Given the description of an element on the screen output the (x, y) to click on. 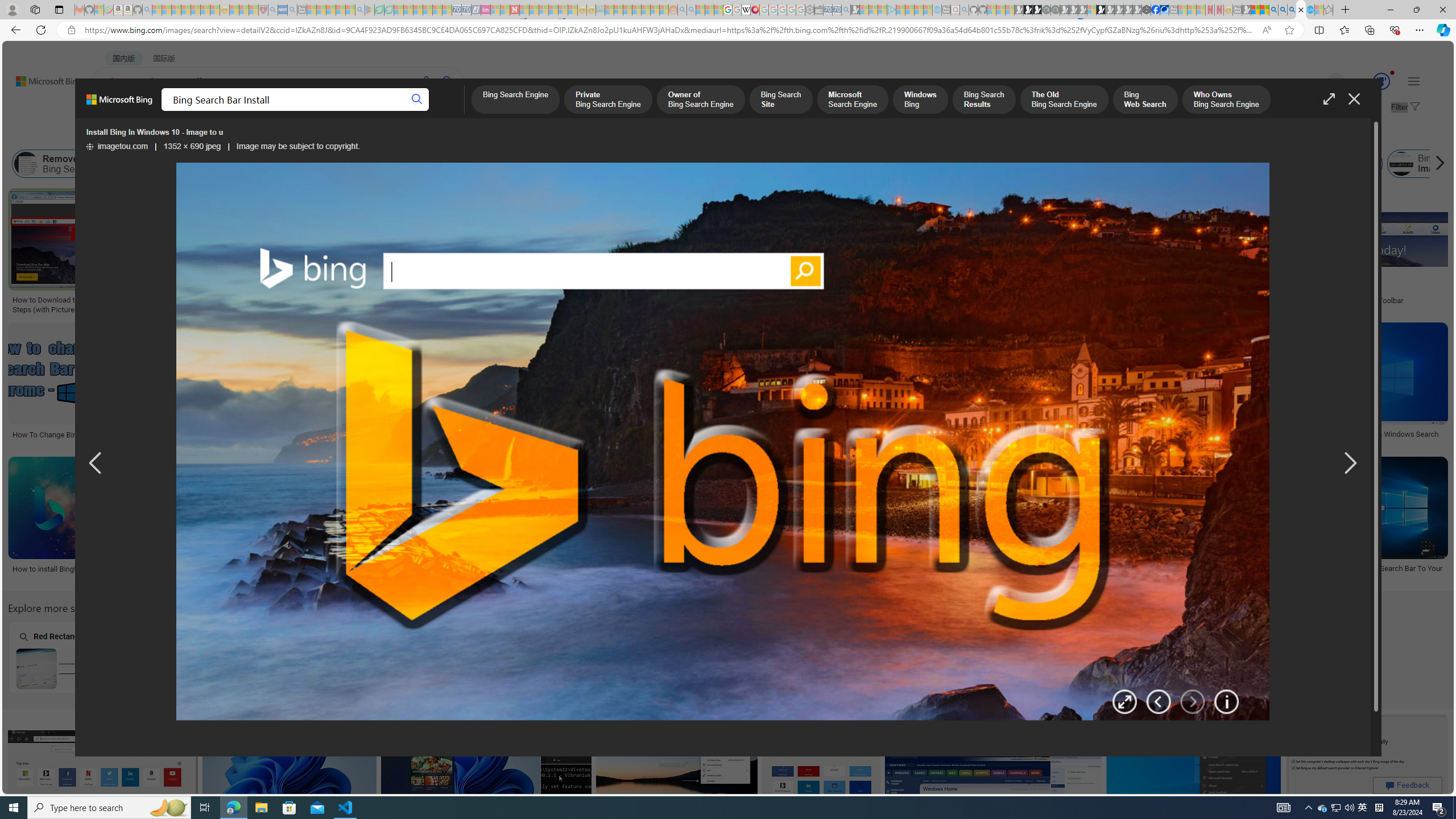
Jobs - lastminute.com Investor Portal - Sleeping (485, 9)
Next image result (1349, 463)
Previous image result (95, 463)
Private Bing Search Engine (607, 100)
